Given the description of an element on the screen output the (x, y) to click on. 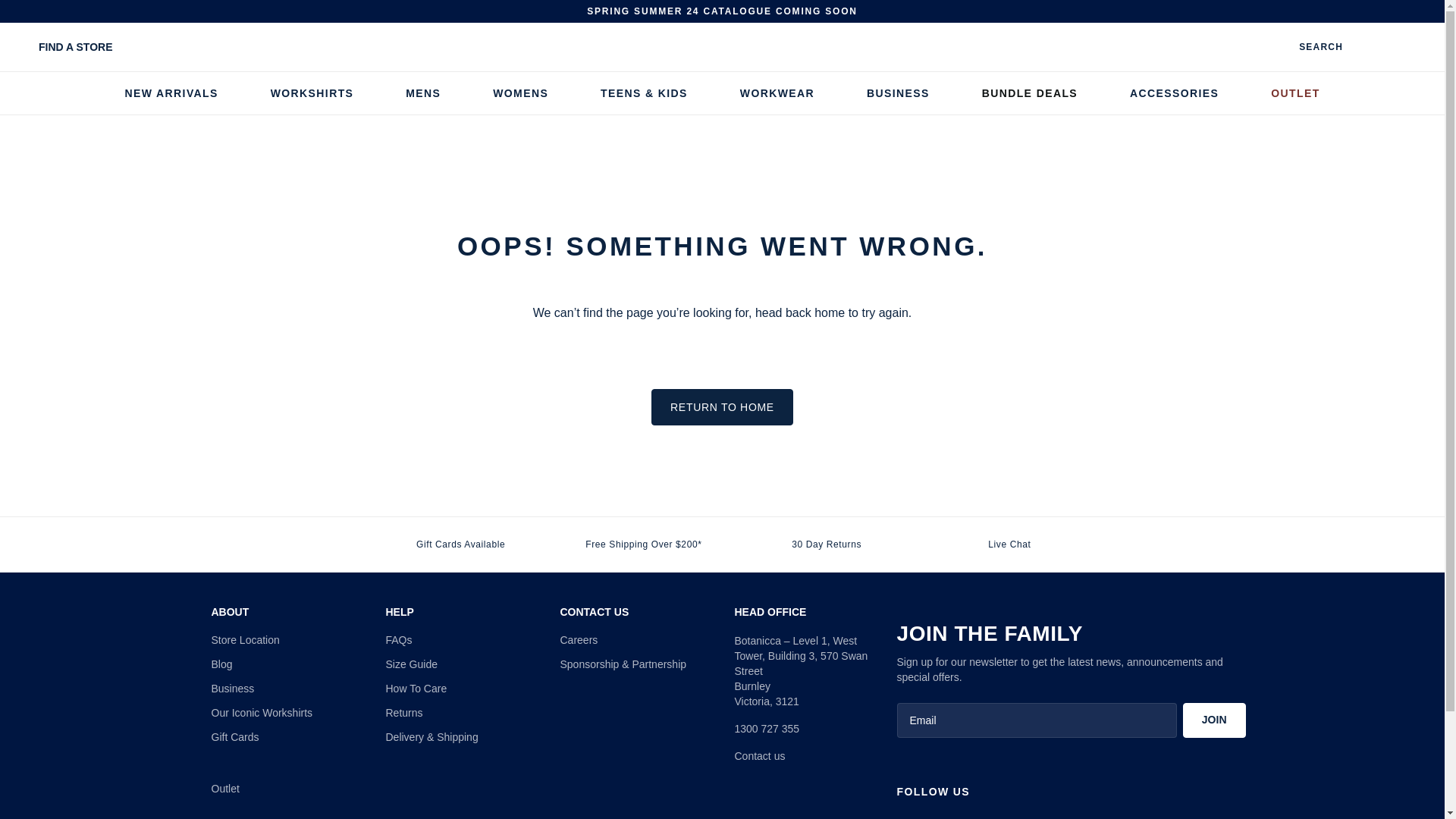
BUNDLE DEALS (1029, 92)
SPRING SUMMER 24 CATALOGUE COMING SOON (721, 10)
New Arrivals (169, 92)
search (1308, 46)
WORKSHIRTS (311, 92)
cart (1414, 47)
RB Sellars homepage (721, 46)
My account (1383, 46)
MENS (423, 92)
ACCESSORIES (1173, 92)
